Given the description of an element on the screen output the (x, y) to click on. 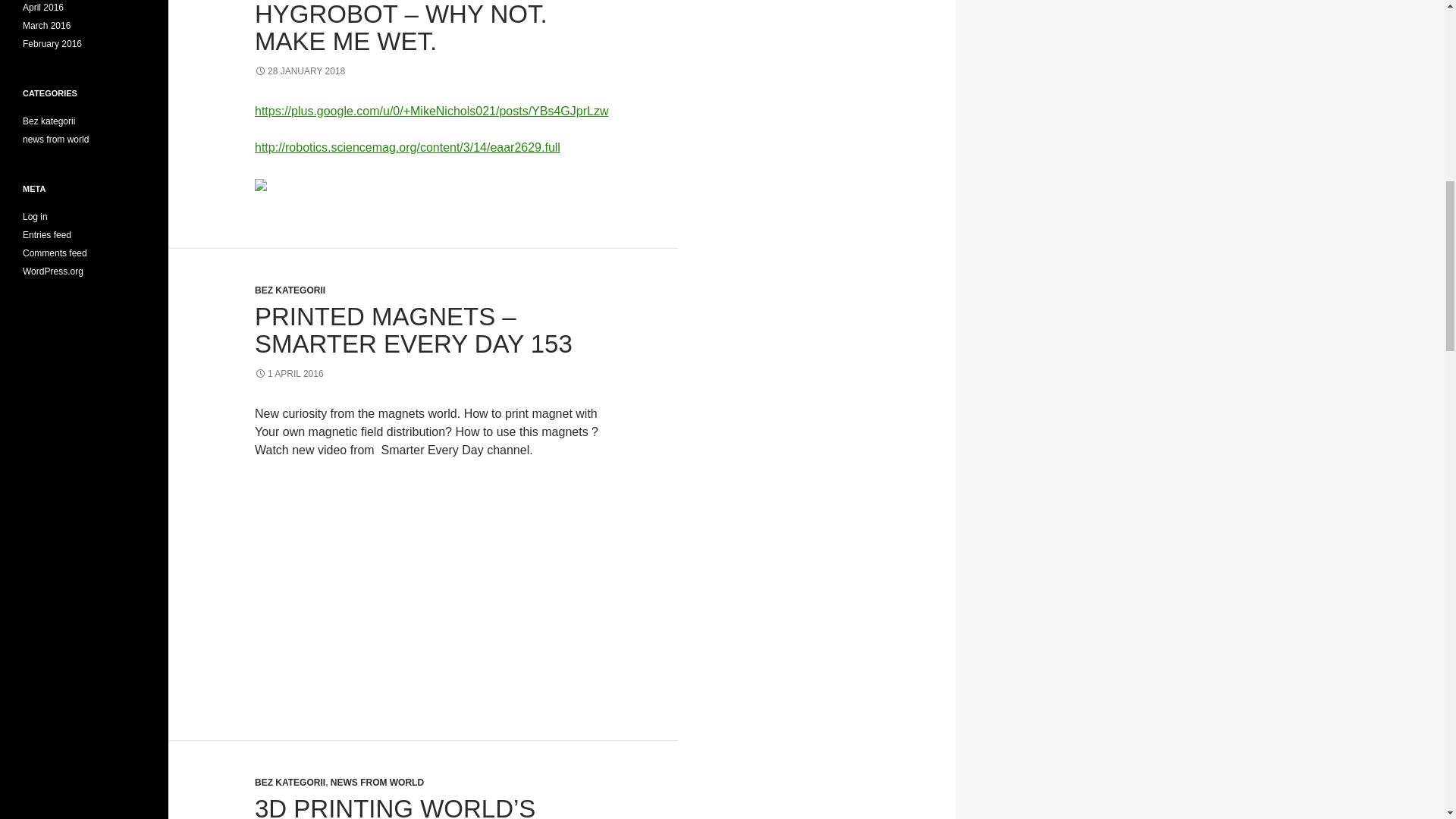
28 JANUARY 2018 (299, 71)
Mind-Blowing Magic Magnets - Smarter Every Day 153 (434, 578)
NEWS FROM WORLD (376, 782)
BEZ KATEGORII (289, 782)
BEZ KATEGORII (289, 290)
1 APRIL 2016 (288, 373)
